Given the description of an element on the screen output the (x, y) to click on. 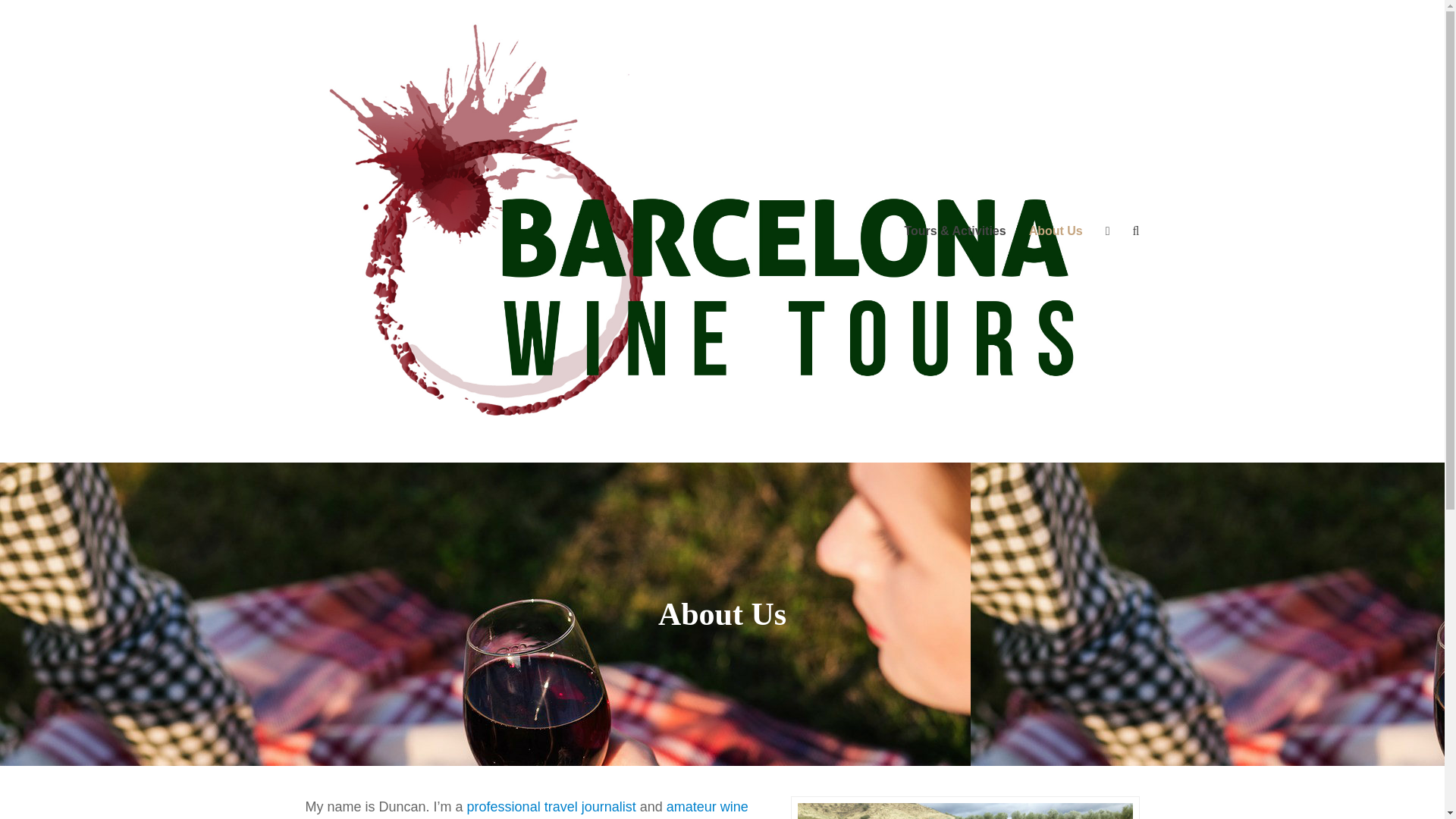
Barcelona Wine Tours (721, 229)
professional travel journalist (551, 806)
About Us (1055, 231)
amateur wine lover (526, 809)
